Given the description of an element on the screen output the (x, y) to click on. 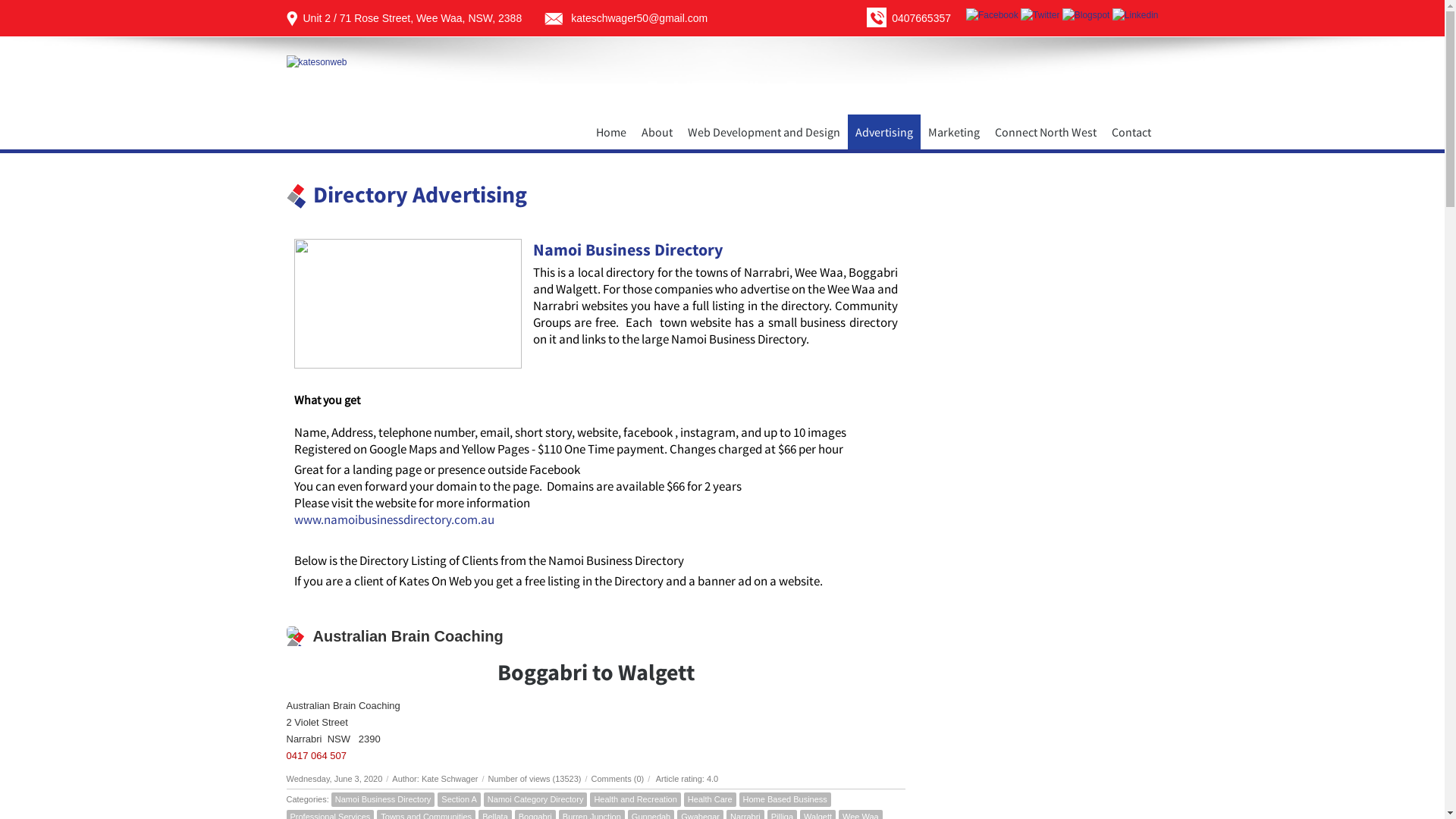
0407665357 Element type: text (920, 18)
Home Based Business Element type: text (785, 799)
Blogspot Element type: hover (1086, 14)
Home Element type: text (610, 131)
katesonweb Element type: hover (316, 62)
Health Care Element type: text (710, 799)
Namoi Category Directory Element type: text (535, 799)
Health and Recreation Element type: text (634, 799)
Marketing Element type: text (953, 131)
www.namoibusinessdirectory.com.au Element type: text (394, 519)
Section A Element type: text (458, 799)
Advertising Element type: text (883, 131)
Linkedin Element type: hover (1135, 14)
Twitter Element type: hover (1039, 14)
Namoi Business Directory Element type: text (383, 799)
Australian Brain Coaching Element type: text (407, 635)
About Element type: text (656, 131)
0417 064 507 Element type: text (316, 755)
Connect North West Element type: text (1045, 131)
Facebook Element type: hover (992, 14)
Web Development and Design Element type: text (763, 131)
kateschwager50@gmail.com Element type: text (639, 18)
Contact Element type: text (1131, 131)
